Given the description of an element on the screen output the (x, y) to click on. 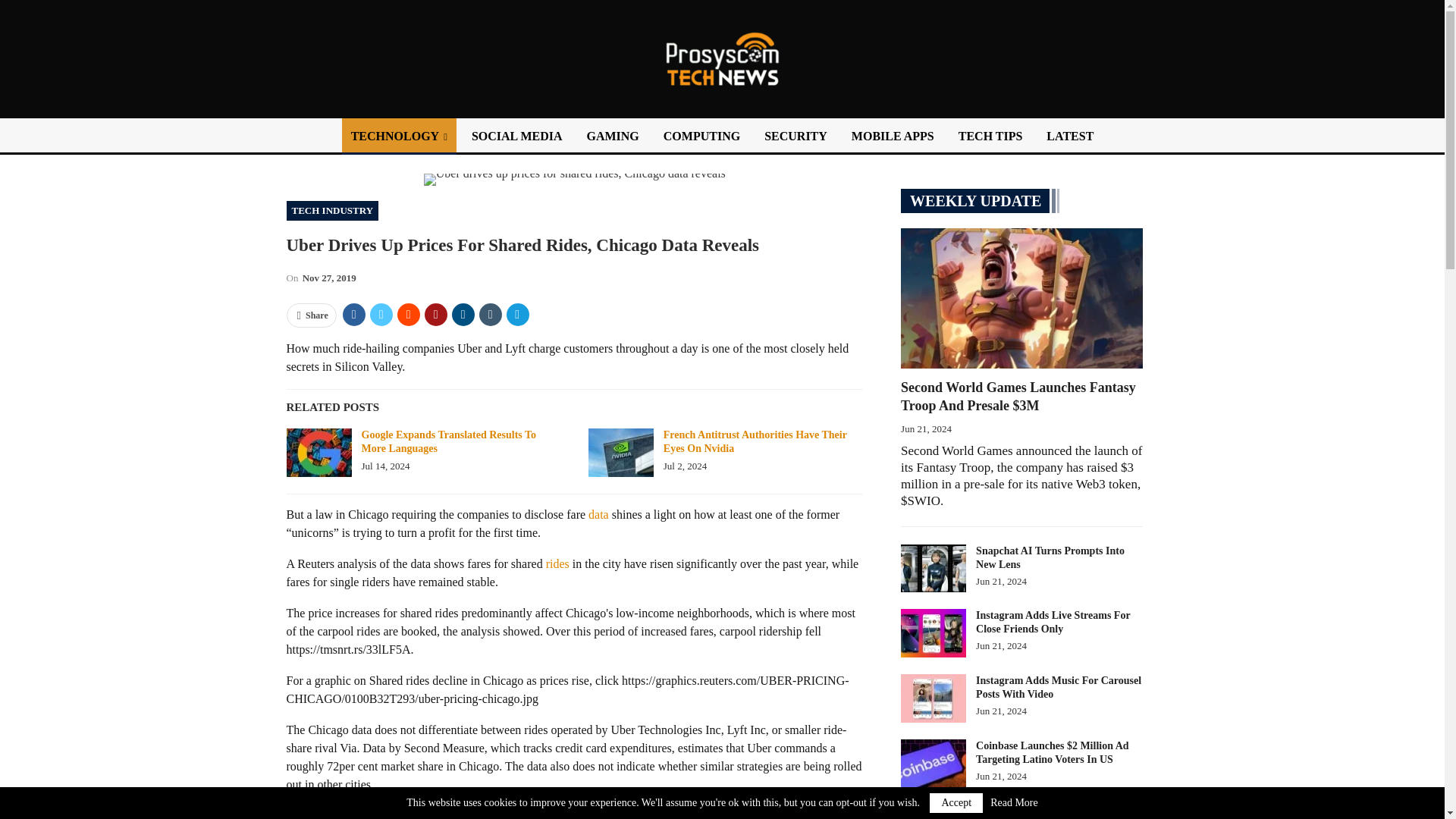
Google Expands Translated Results To More Languages (448, 441)
French antitrust authorities have their eyes on Nvidia (620, 452)
rides (557, 562)
MOBILE APPS (893, 135)
LATEST (1069, 135)
Instagram Adds Music for Carousel Posts with Video (933, 698)
Google Expands Translated Results To More Languages (319, 452)
Posts tagged with rides (557, 562)
data (598, 513)
SECURITY (795, 135)
SOCIAL MEDIA (517, 135)
TECH TIPS (990, 135)
Posts tagged with data (598, 513)
YouTube Enables Editing of Longer Videos (933, 811)
Snapchat AI turns prompts into new lens (933, 568)
